Given the description of an element on the screen output the (x, y) to click on. 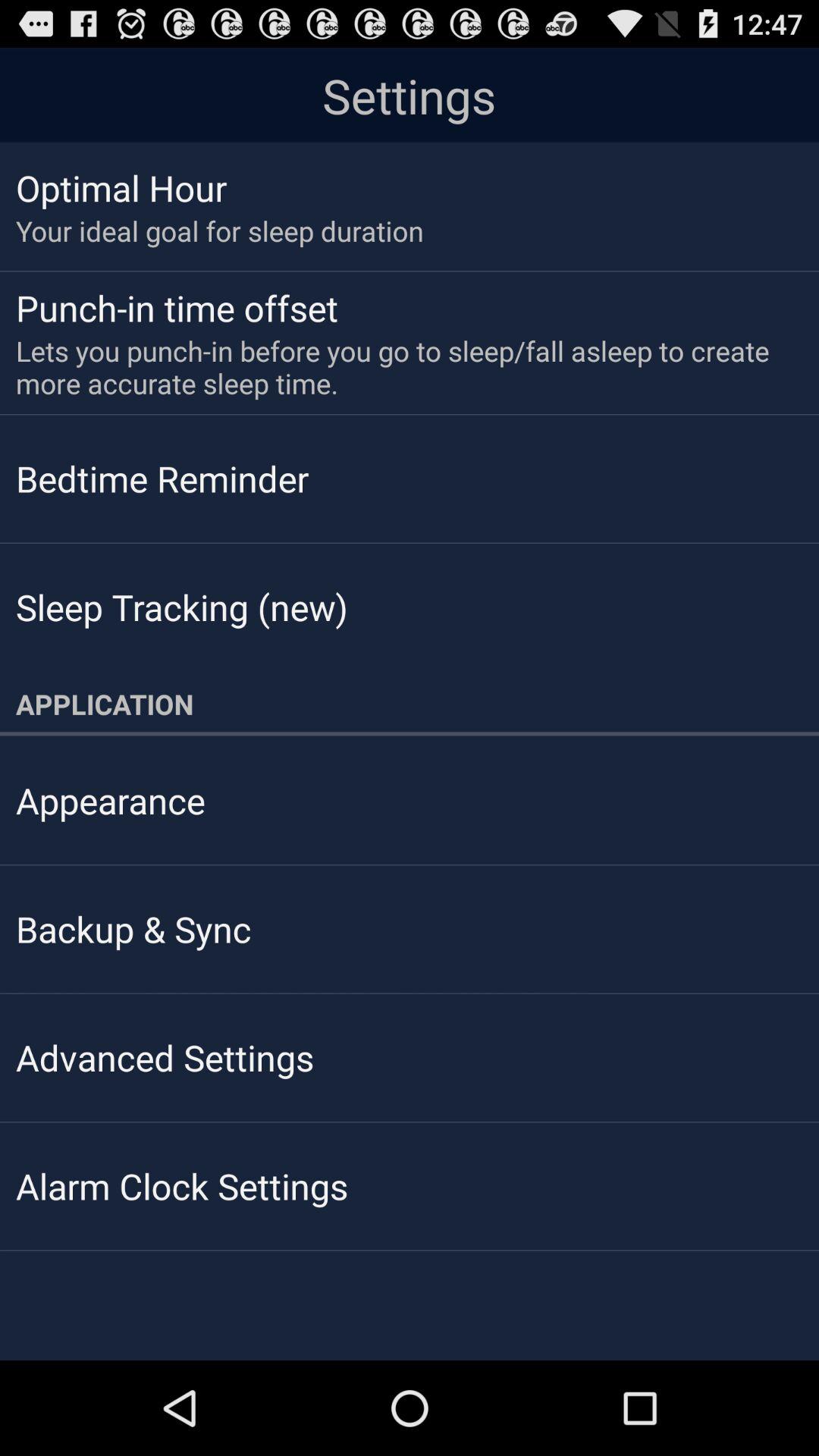
open item below the bedtime reminder app (181, 606)
